Given the description of an element on the screen output the (x, y) to click on. 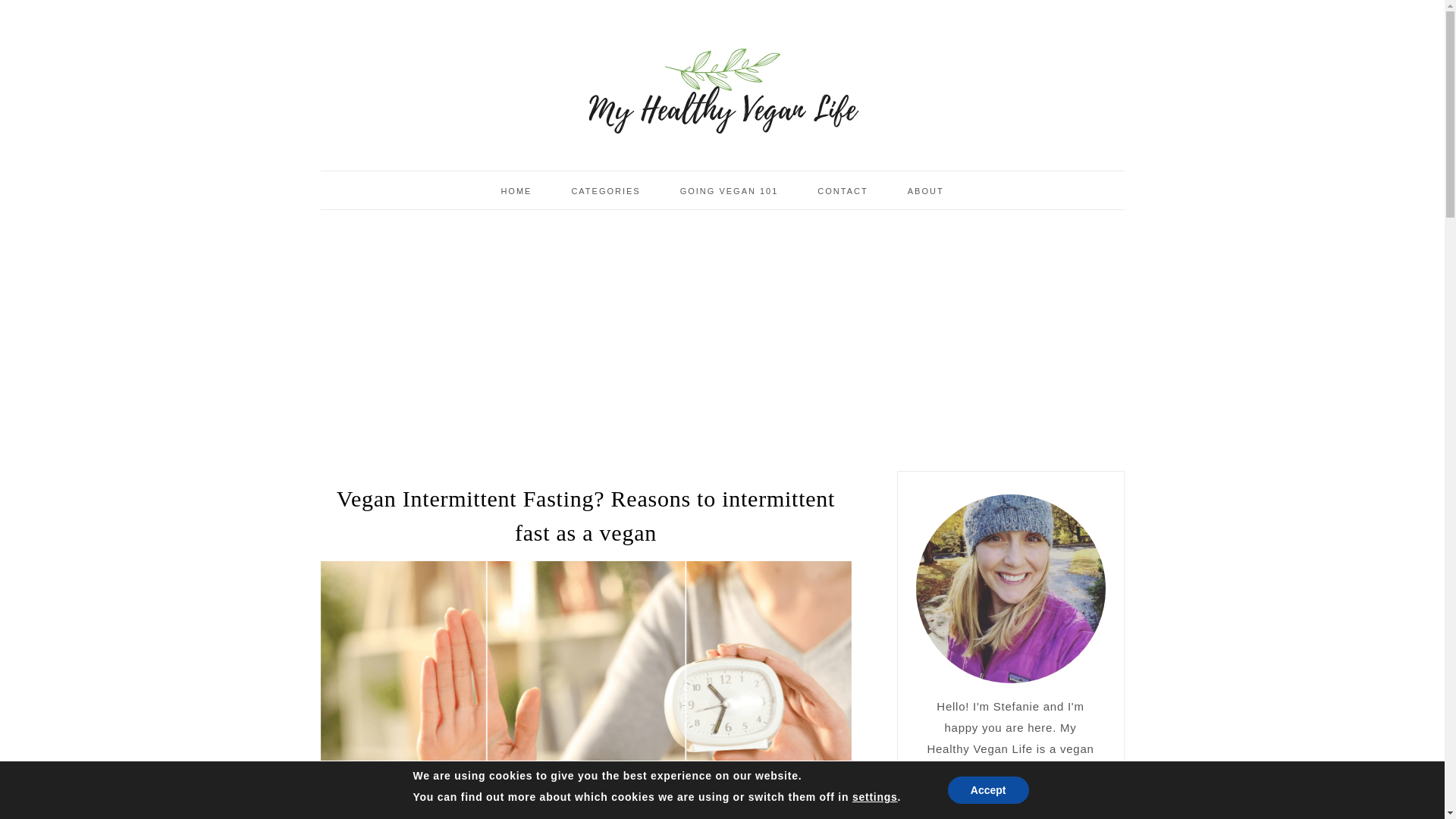
MY HEALTHY VEGAN LIFE (721, 91)
ABOUT (925, 189)
settings (874, 796)
Accept (988, 789)
CONTACT (841, 189)
GOING VEGAN 101 (729, 189)
HOME (515, 189)
CATEGORIES (605, 189)
